Given the description of an element on the screen output the (x, y) to click on. 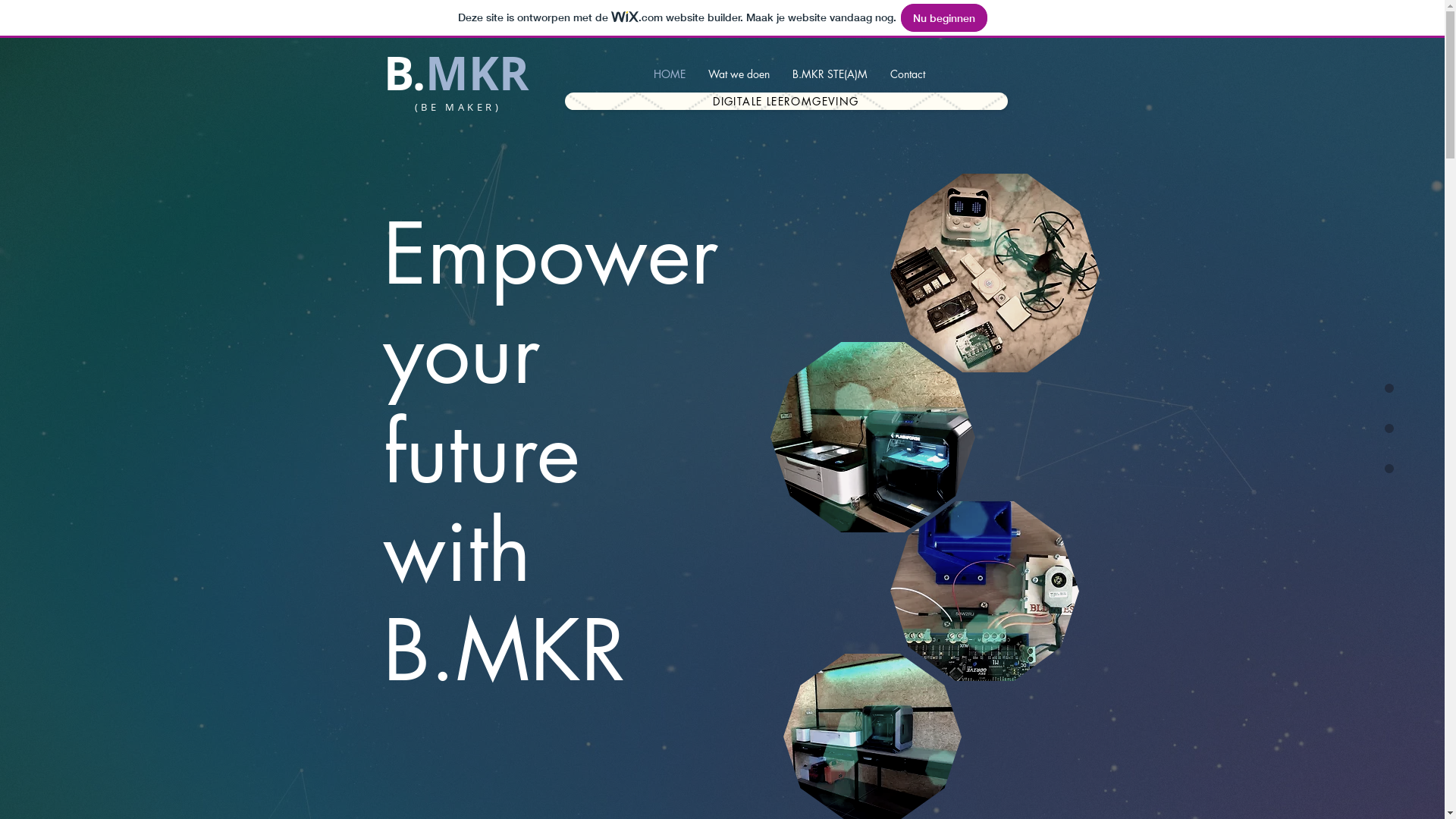
(BE MAKER) Element type: text (458, 108)
B. Element type: text (404, 72)
HOME Element type: text (669, 73)
MKR Element type: text (476, 72)
DIGITALE LEEROMGEVING Element type: text (785, 100)
B.MKR STE(A)M Element type: text (829, 73)
Wat we doen Element type: text (738, 73)
Contact Element type: text (907, 73)
